Given the description of an element on the screen output the (x, y) to click on. 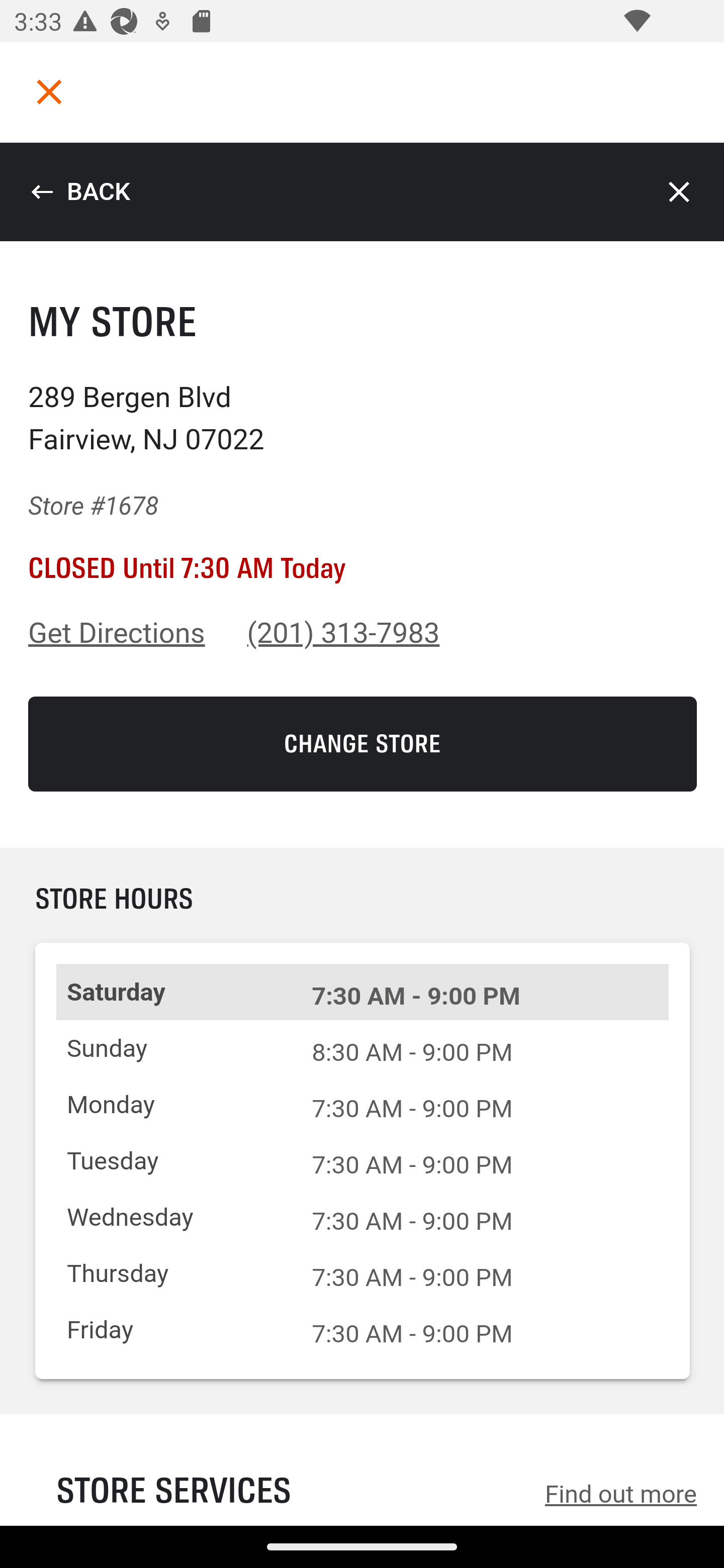
 (49, 91)
BACK (79, 192)
Close (679, 192)
Add Vehicle (182, 495)
(201) 313-7983 (343, 633)
CHANGE STORE (363, 743)
Close icon Get the AutoZone App OPEN (362, 1456)
